Given the description of an element on the screen output the (x, y) to click on. 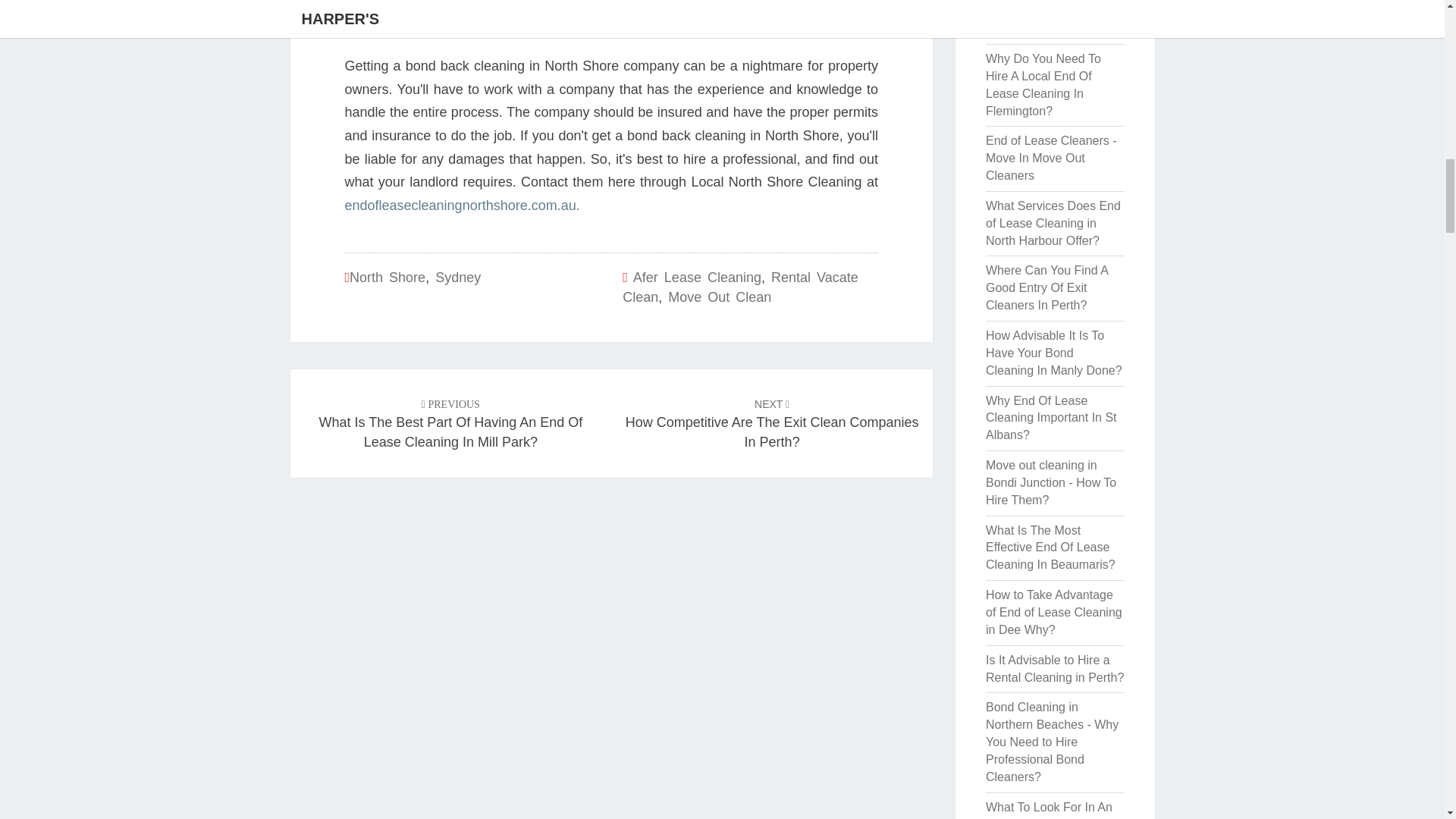
Why End Of Lease Cleaning Important In St Albans? (772, 422)
How to Take Advantage of End of Lease Cleaning in Dee Why? (1050, 417)
How Competitive Are The Exit Clean Companies In Perth? (1053, 612)
endofleasecleaningnorthshore.com.au. (1053, 18)
Where Can You Find A Good Entry Of Exit Cleaners In Perth? (461, 205)
End of Lease Cleaners - Move In Move Out Cleaners (1046, 287)
